Given the description of an element on the screen output the (x, y) to click on. 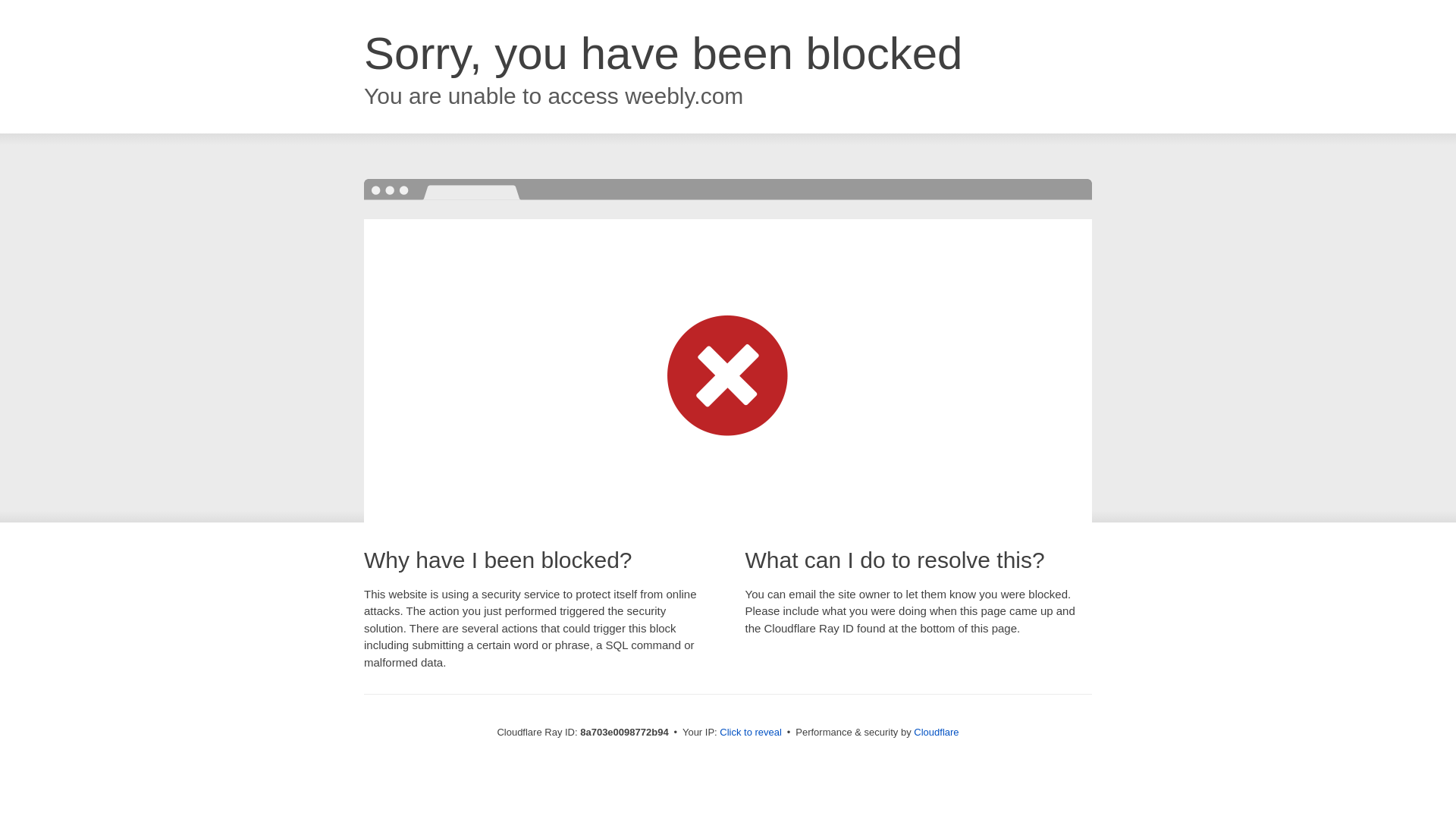
Cloudflare (936, 731)
Click to reveal (750, 732)
